Given the description of an element on the screen output the (x, y) to click on. 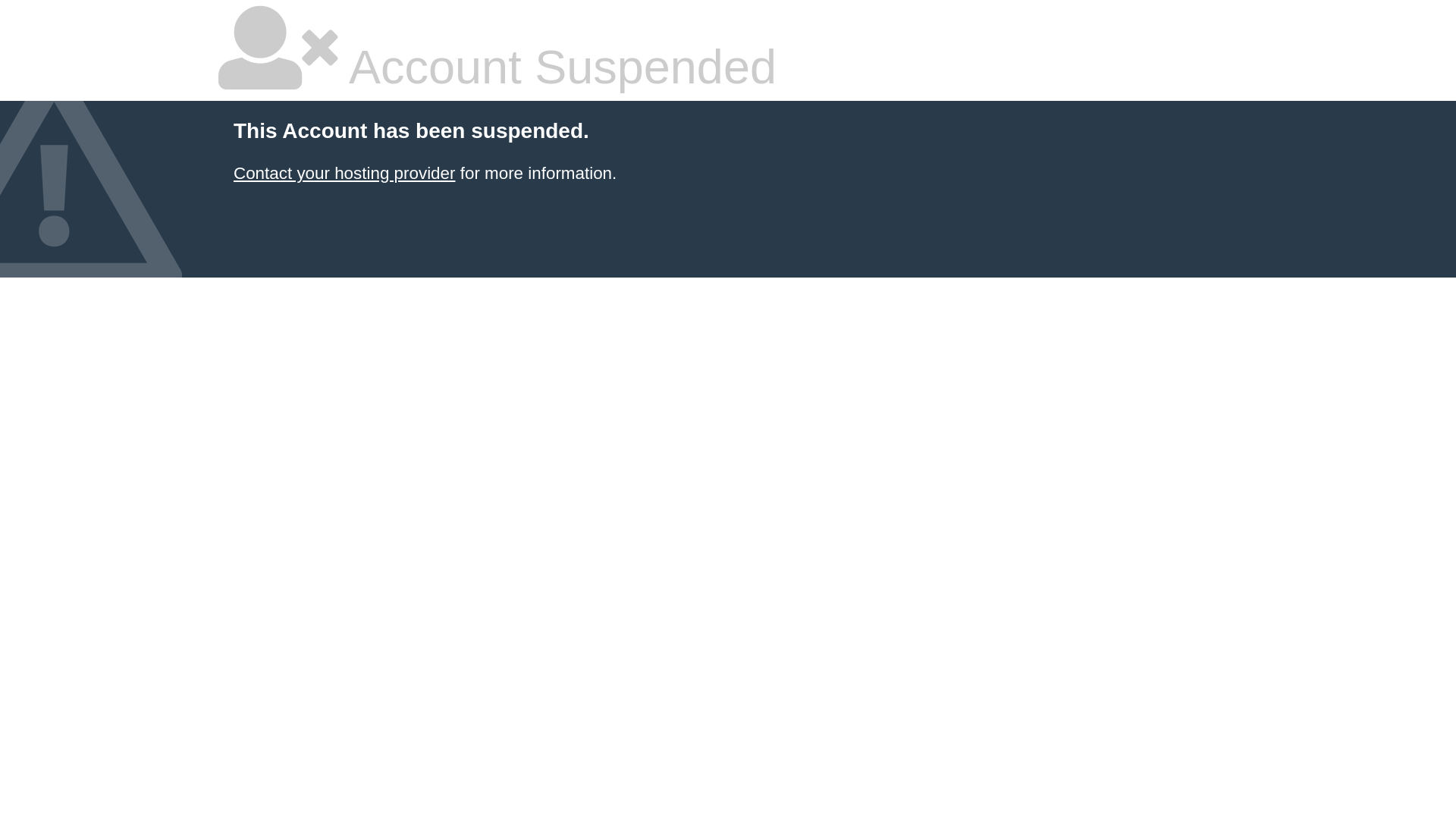
Contact your hosting provider Element type: text (344, 172)
